Given the description of an element on the screen output the (x, y) to click on. 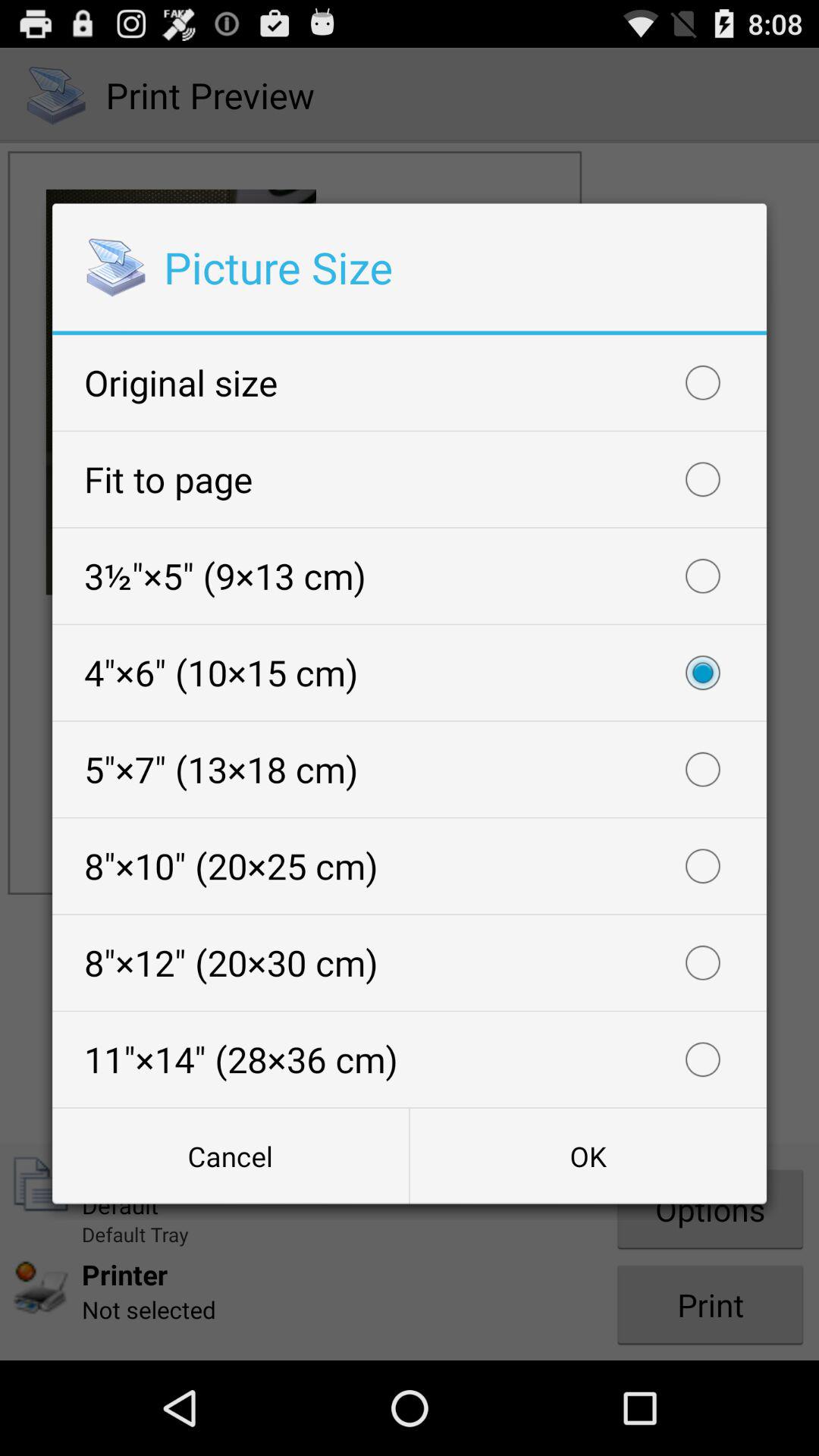
jump until the ok (588, 1156)
